Given the description of an element on the screen output the (x, y) to click on. 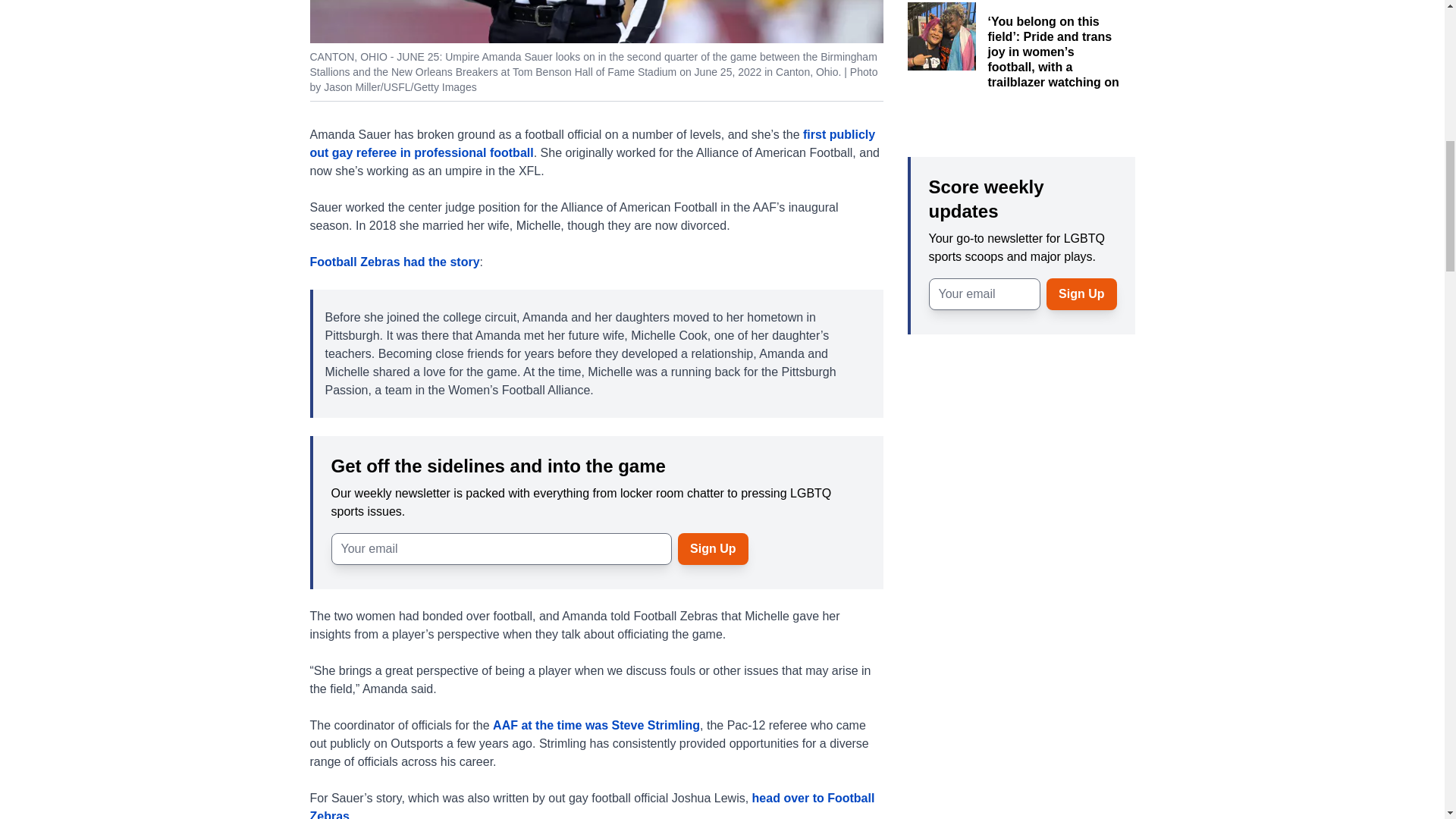
Sign Up (713, 548)
Football Zebras had the story (393, 260)
first publicly out gay referee in professional football (591, 142)
Sign Up (1081, 294)
head over to Football Zebras (591, 805)
AAF at the time was Steve Strimling (596, 725)
